Given the description of an element on the screen output the (x, y) to click on. 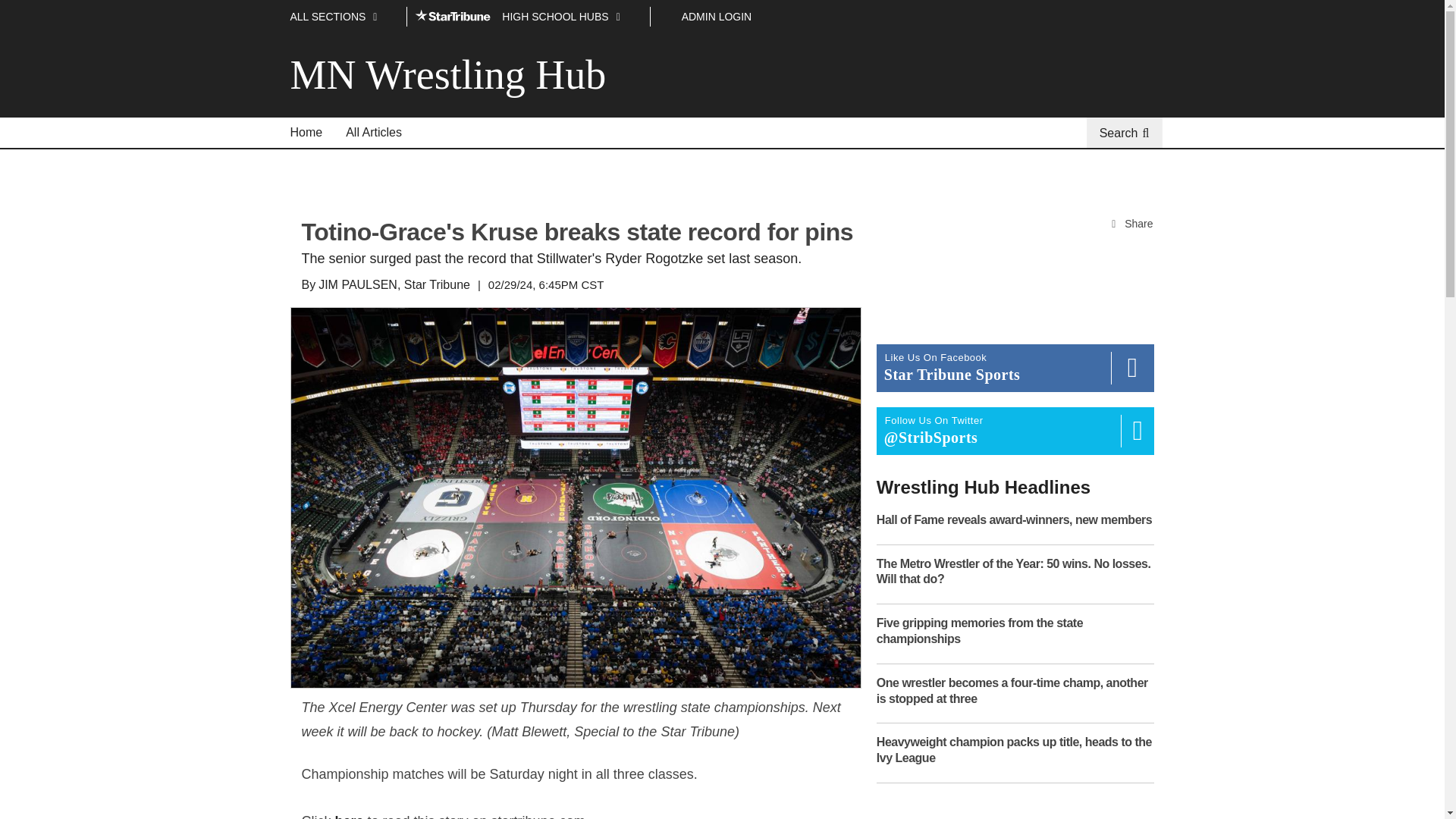
Home (306, 132)
All Articles (373, 132)
click to go to 'Home' (306, 132)
Login (716, 16)
MN Wrestling Hub  (452, 74)
ADMIN LOGIN (716, 16)
ALL SECTIONS (344, 16)
click to go to 'Minnesota Wrestling Hub All Articles' (373, 132)
HIGH SCHOOL HUBS (528, 16)
